Given the description of an element on the screen output the (x, y) to click on. 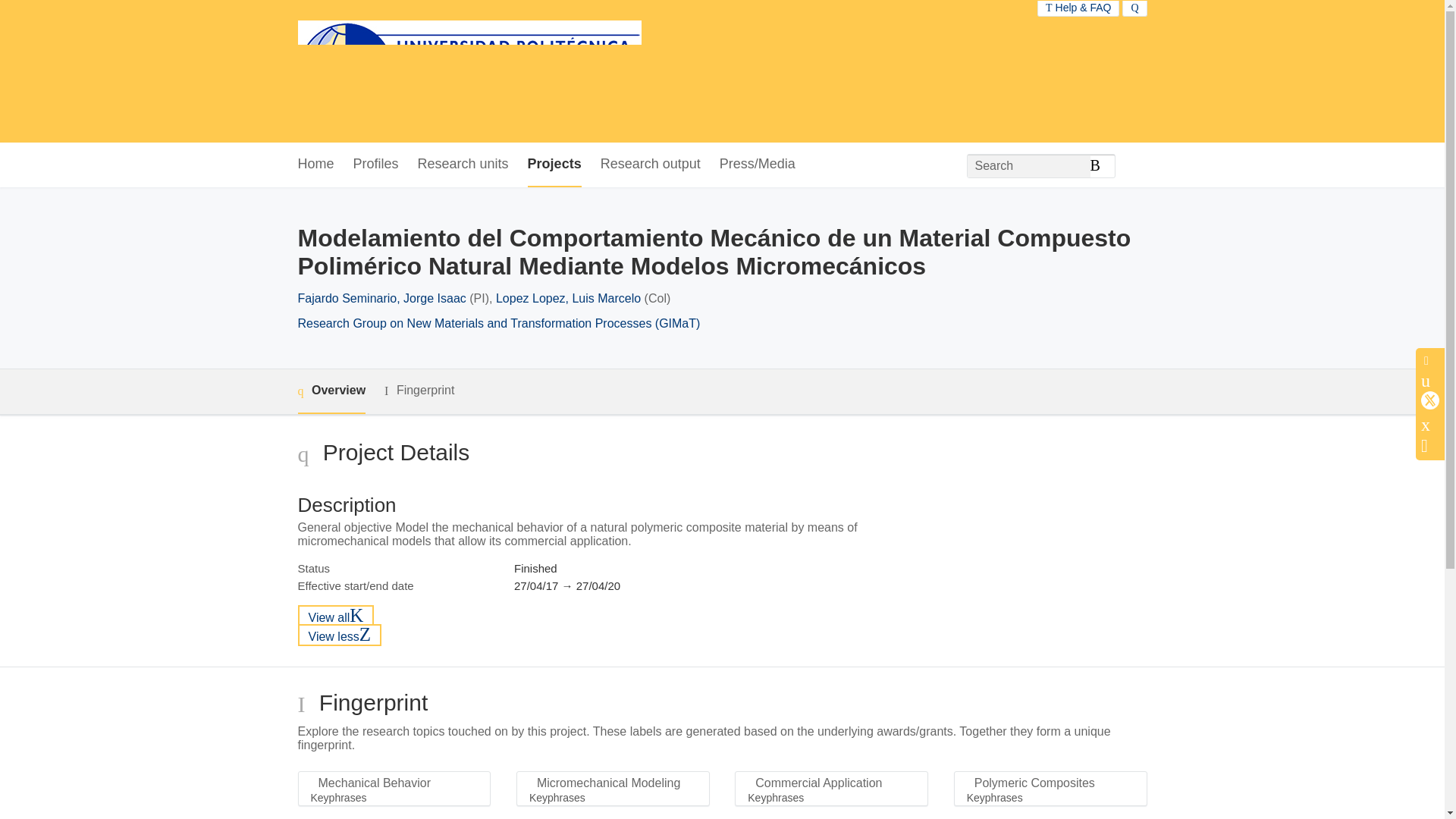
View less (339, 635)
Lopez Lopez, Luis Marcelo (568, 297)
Overview (331, 391)
Fajardo Seminario, Jorge Isaac (381, 297)
Projects (553, 164)
Fingerprint (419, 390)
Research units (462, 164)
Profiles (375, 164)
View all (335, 616)
Research output (649, 164)
